Given the description of an element on the screen output the (x, y) to click on. 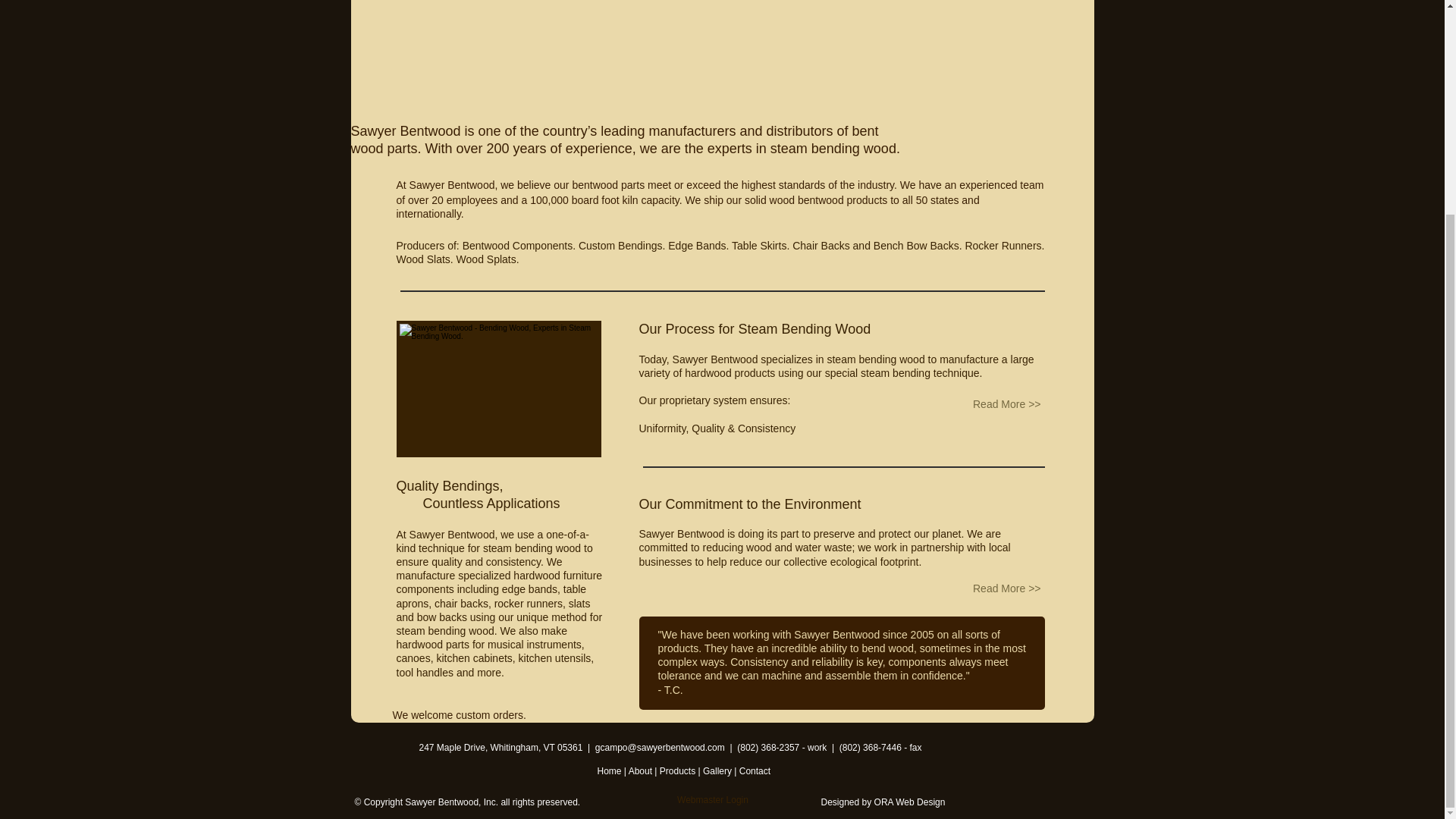
Contact (754, 770)
Home (610, 770)
ORA (884, 801)
Webmaster Login (712, 800)
About (641, 770)
Gallery (718, 770)
Products (678, 770)
Web Design (919, 801)
We welcome custom orders. (459, 715)
